Given the description of an element on the screen output the (x, y) to click on. 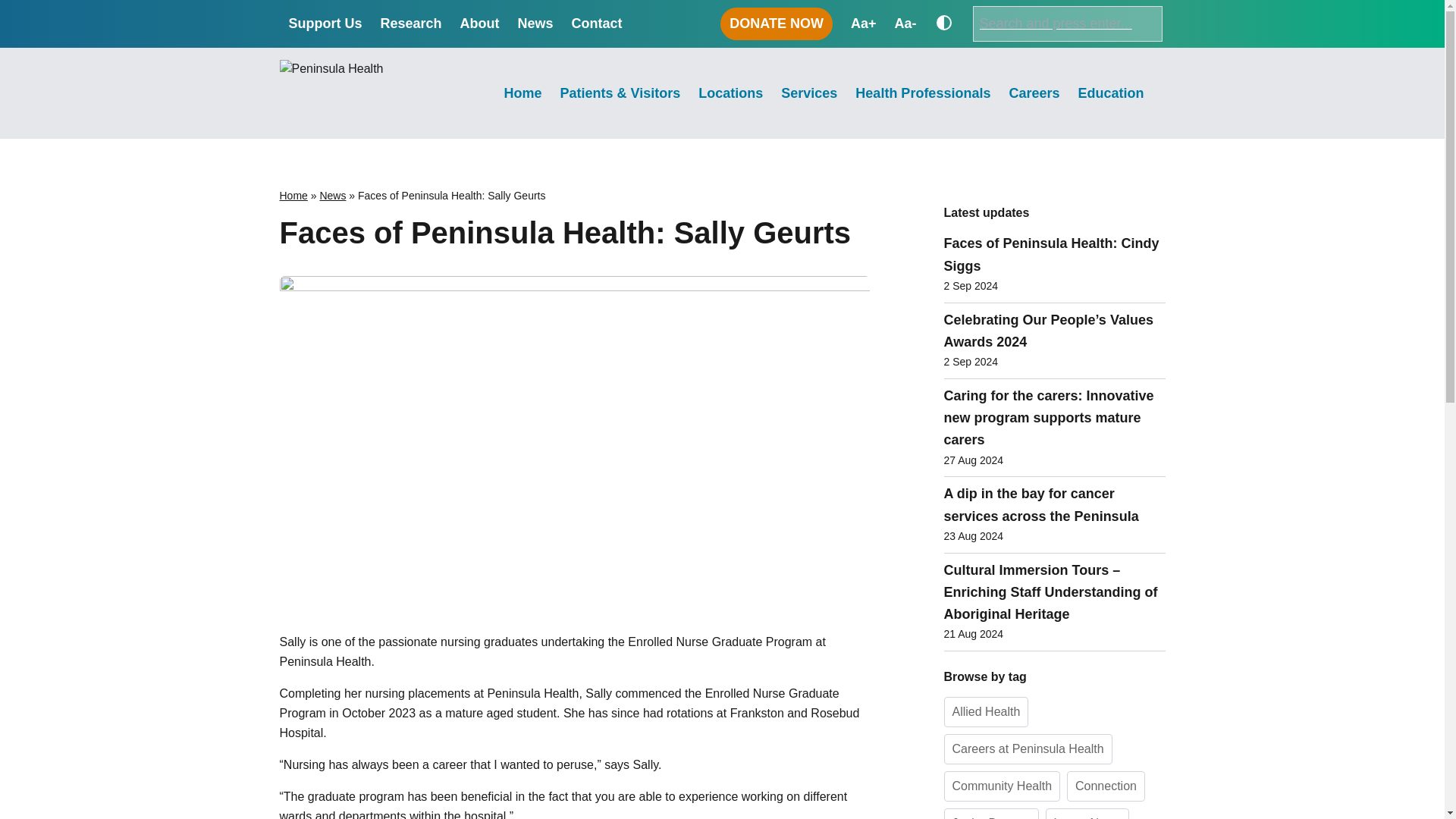
A dip in the bay for cancer services across the Peninsula (1053, 505)
Community Health (1001, 786)
News (332, 195)
DONATE NOW (776, 23)
Peninsula Health (340, 138)
Junior Doctors (990, 813)
Aa- (904, 24)
Support Us (324, 24)
Careers at Peninsula Health (1027, 748)
